Given the description of an element on the screen output the (x, y) to click on. 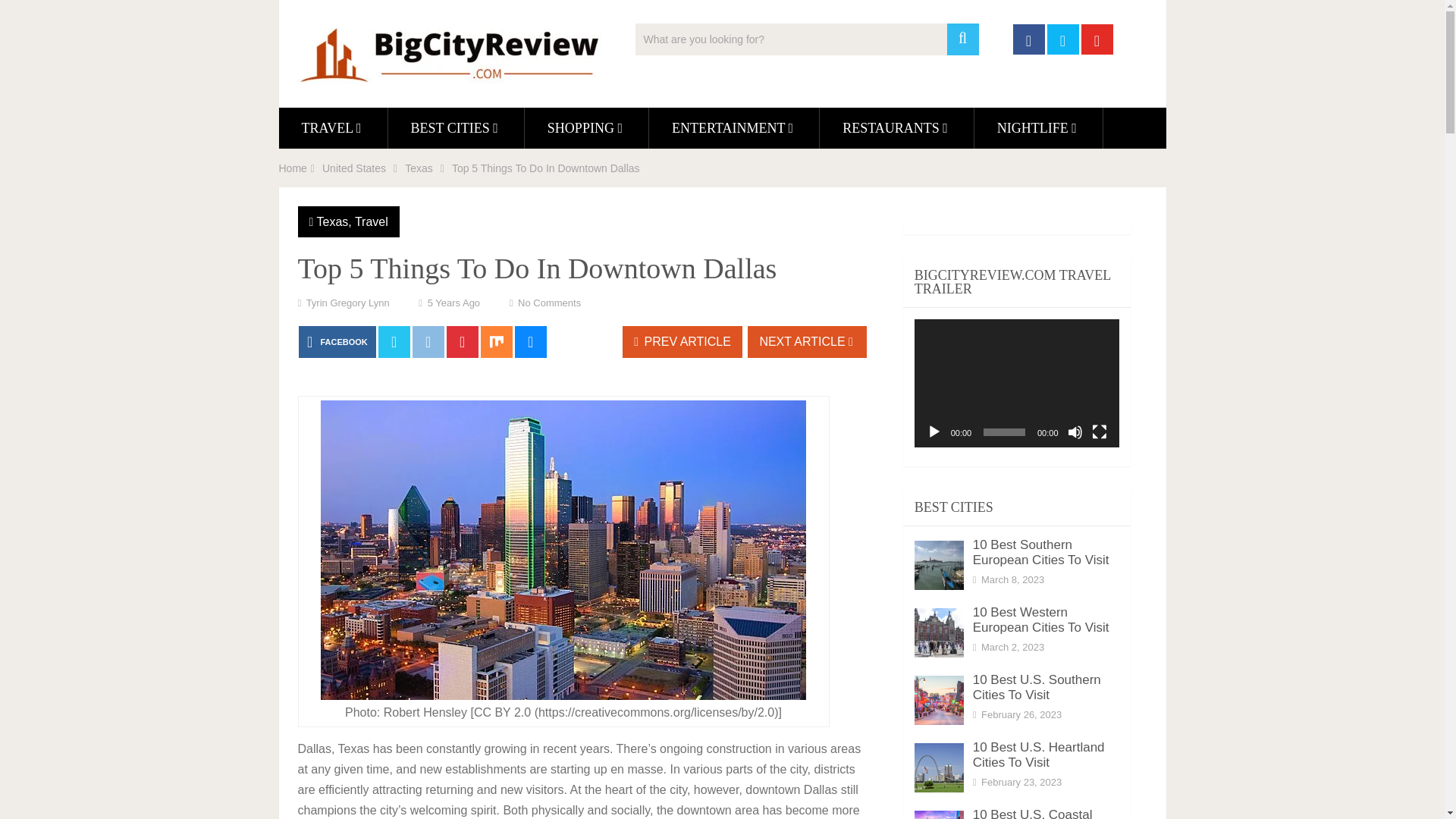
United States (353, 168)
View all posts in Texas (333, 221)
TRAVEL (333, 127)
PREV ARTICLE (682, 341)
Home (293, 168)
Texas (418, 168)
SHOPPING (585, 127)
Texas (333, 221)
RESTAURANTS (896, 127)
No Comments (549, 302)
